Given the description of an element on the screen output the (x, y) to click on. 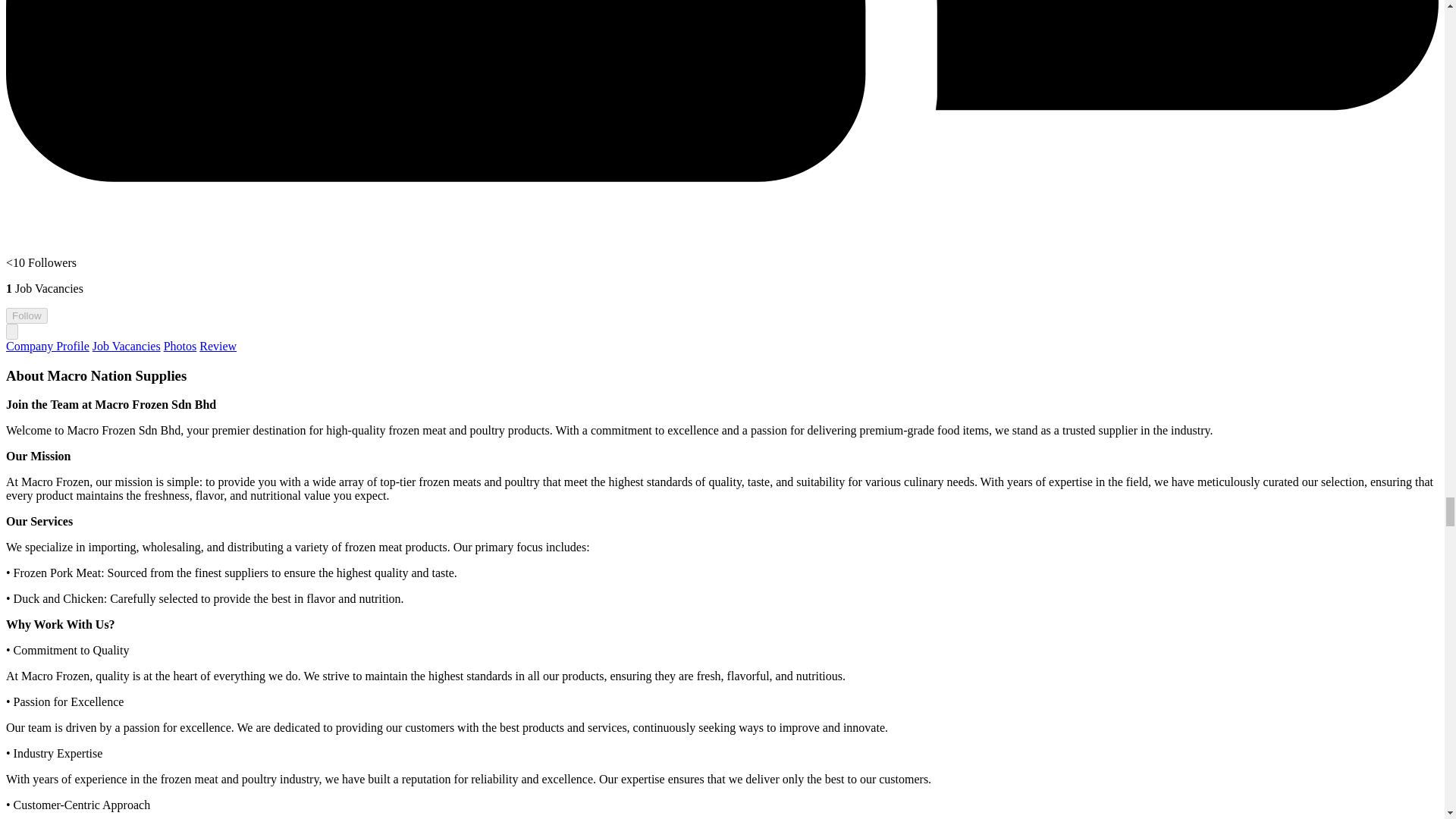
Company Profile (46, 345)
Photos (179, 345)
Follow (26, 315)
Job Vacancies (126, 345)
Review (217, 345)
